Given the description of an element on the screen output the (x, y) to click on. 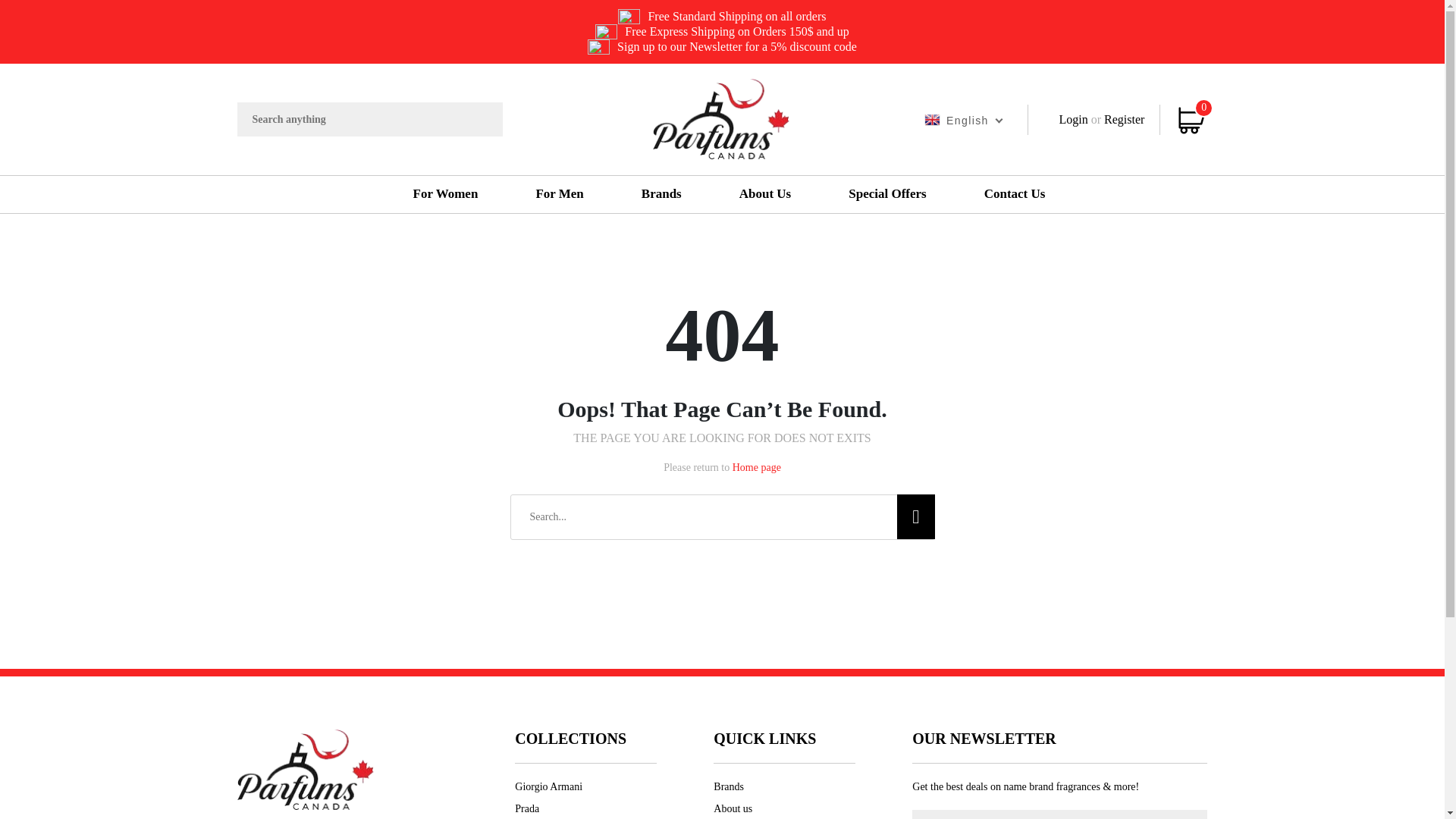
0 (1191, 119)
Brands (661, 194)
Login or Register (1093, 119)
For Women (445, 194)
Special Offers (886, 194)
For Men (558, 194)
Contact Us (1015, 194)
Brands (661, 194)
Contact Us (1015, 194)
For Men (558, 194)
